Given the description of an element on the screen output the (x, y) to click on. 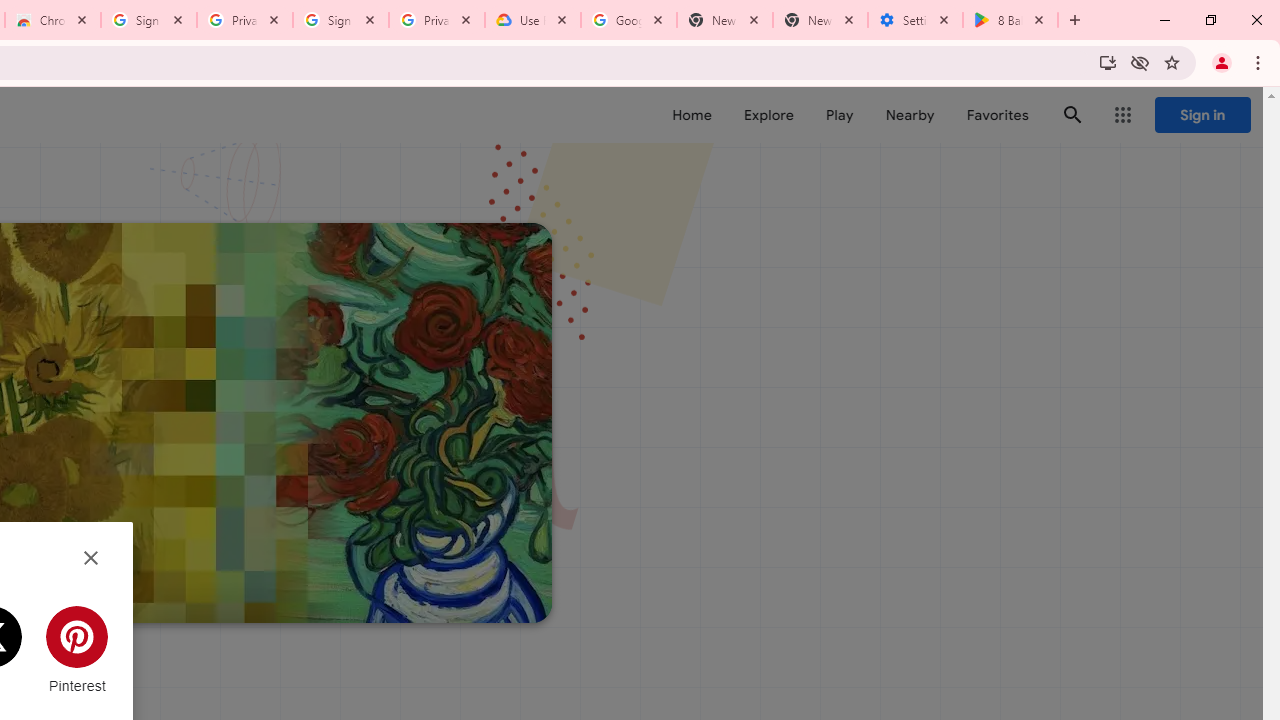
Home (691, 115)
Sign in - Google Accounts (149, 20)
8 Ball Pool - Apps on Google Play (1010, 20)
Play (840, 115)
Sign in - Google Accounts (341, 20)
Favorites (996, 115)
New Tab (820, 20)
Share on Pinterest (77, 650)
